Given the description of an element on the screen output the (x, y) to click on. 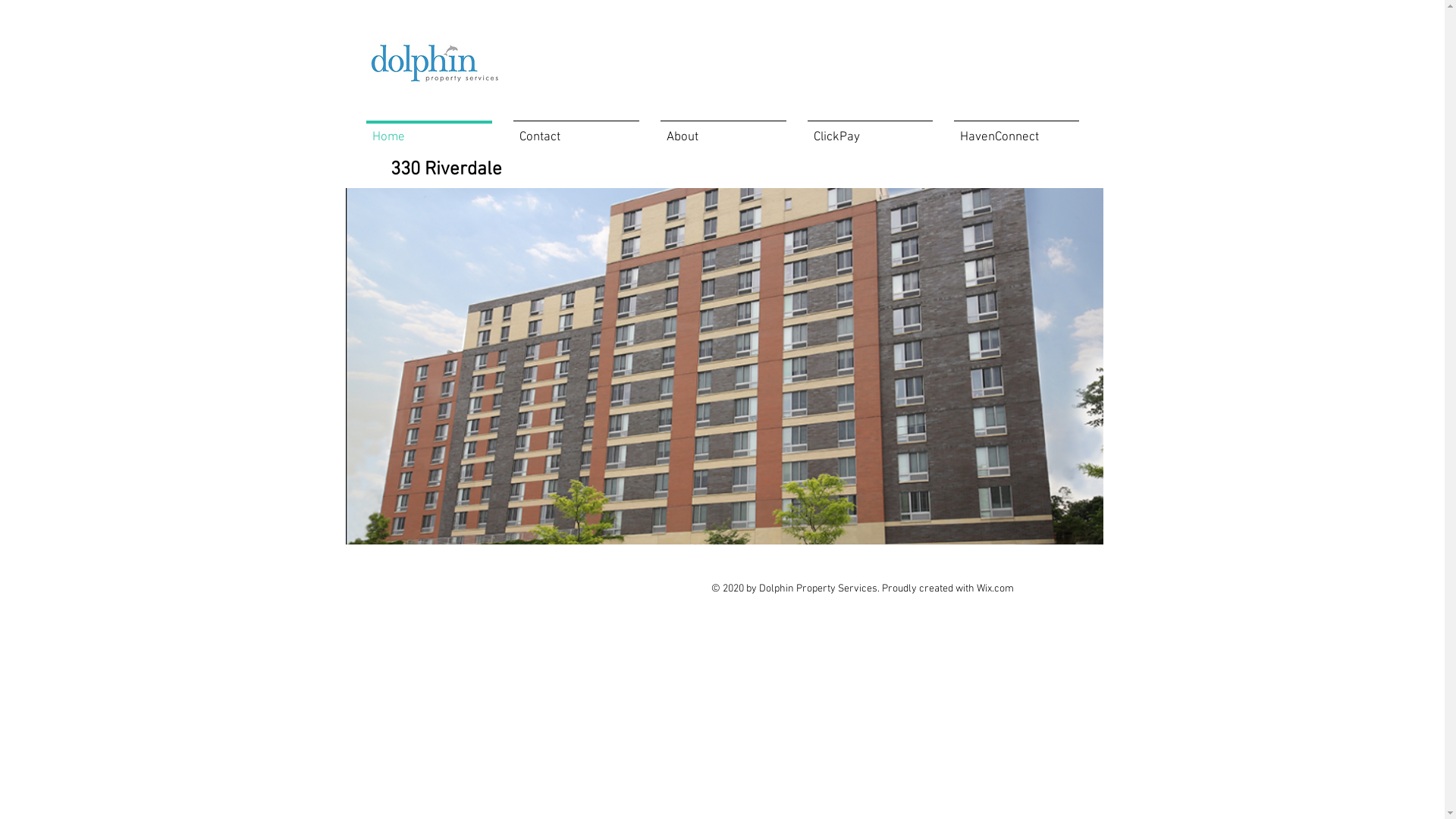
About Element type: text (722, 130)
Home Element type: text (428, 130)
ClickPay Element type: text (869, 130)
Wix.com Element type: text (994, 588)
HavenConnect Element type: text (1016, 130)
Contact Element type: text (575, 130)
